Given the description of an element on the screen output the (x, y) to click on. 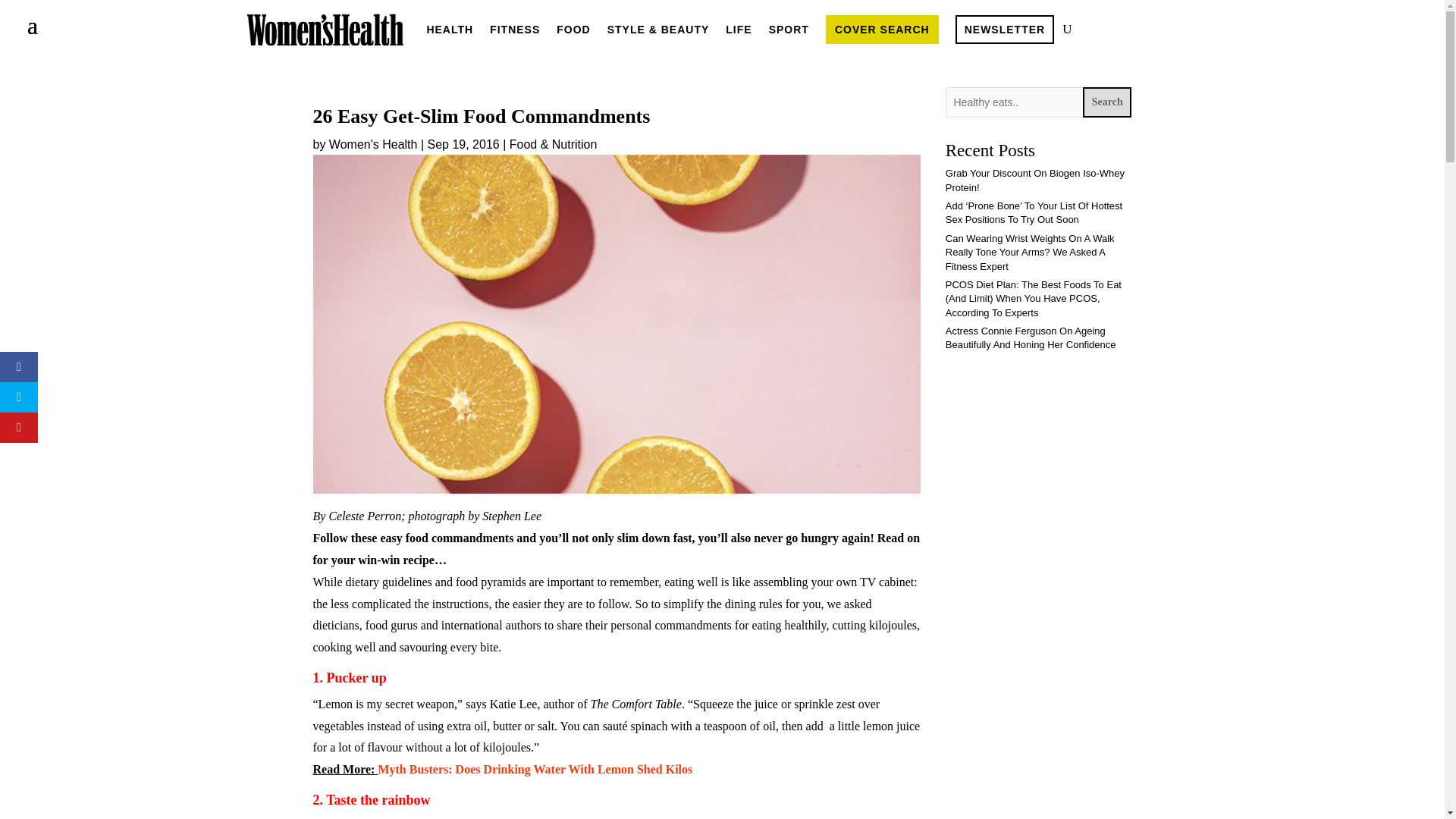
Posts by Women's Health (373, 144)
